Given the description of an element on the screen output the (x, y) to click on. 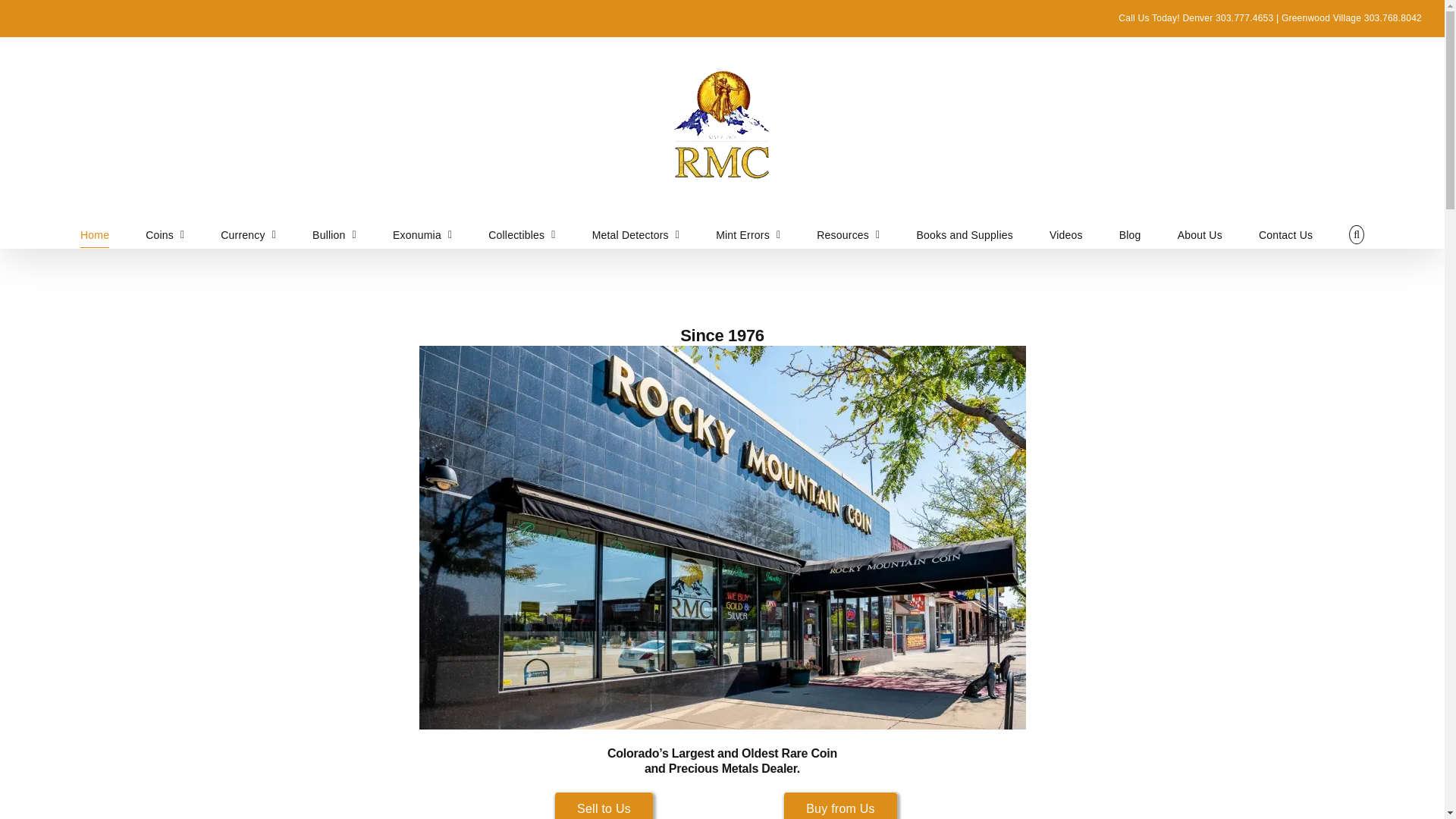
Currency (248, 234)
Search (1356, 234)
Coins (164, 234)
Bullion (334, 234)
Home (94, 234)
Exonumia (422, 234)
